Given the description of an element on the screen output the (x, y) to click on. 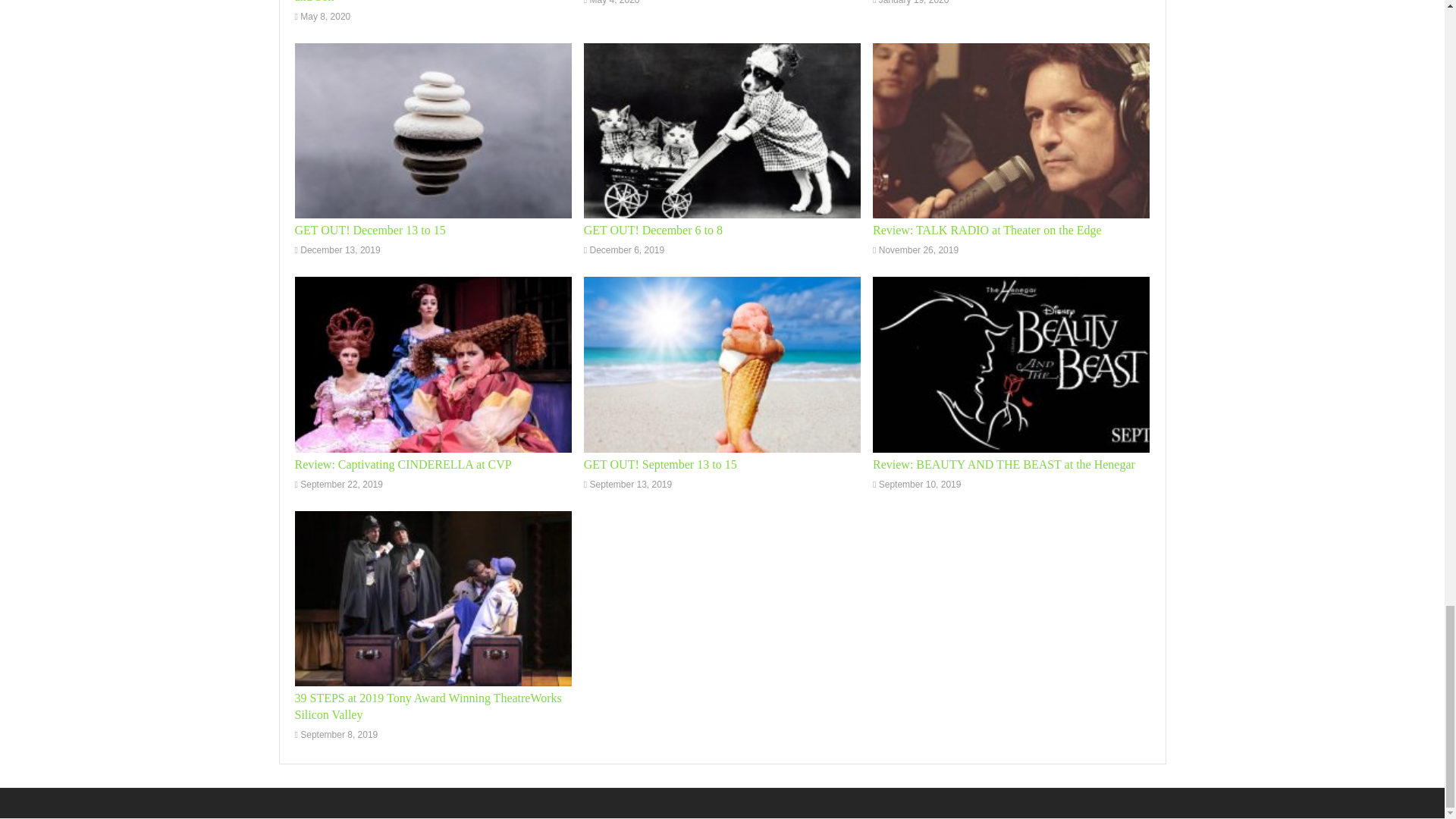
Film Features Area Attorney ALLAN WHITEHEAD and Son (422, 1)
GET OUT! December 6 to 8 (721, 130)
GET OUT! December 13 to 15 (369, 229)
GET OUT! December 6 to 8 (652, 229)
GET OUT! December 13 to 15 (369, 229)
GET OUT! December 13 to 15 (432, 130)
Film Features Area Attorney ALLAN WHITEHEAD and Son (422, 1)
